Given the description of an element on the screen output the (x, y) to click on. 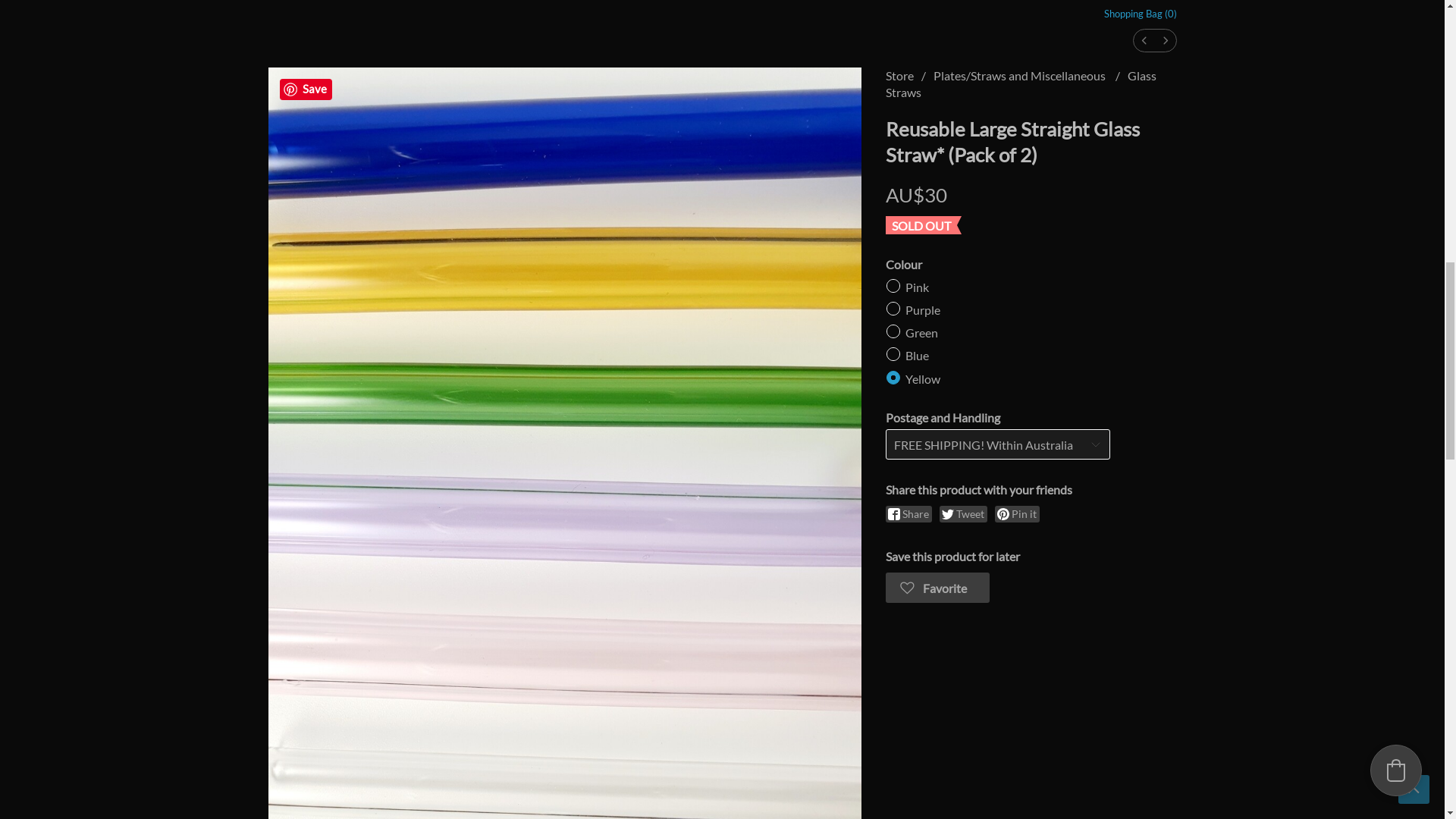
Contact Us Element type: text (490, 9)
Reviews Element type: text (440, 9)
Shipping Element type: text (394, 9)
Gift of Glass Element type: text (332, 742)
Gift of Glass Element type: hover (722, 30)
Home Element type: text (278, 9)
Store Element type: text (313, 9)
Gallery Element type: text (350, 9)
